Given the description of an element on the screen output the (x, y) to click on. 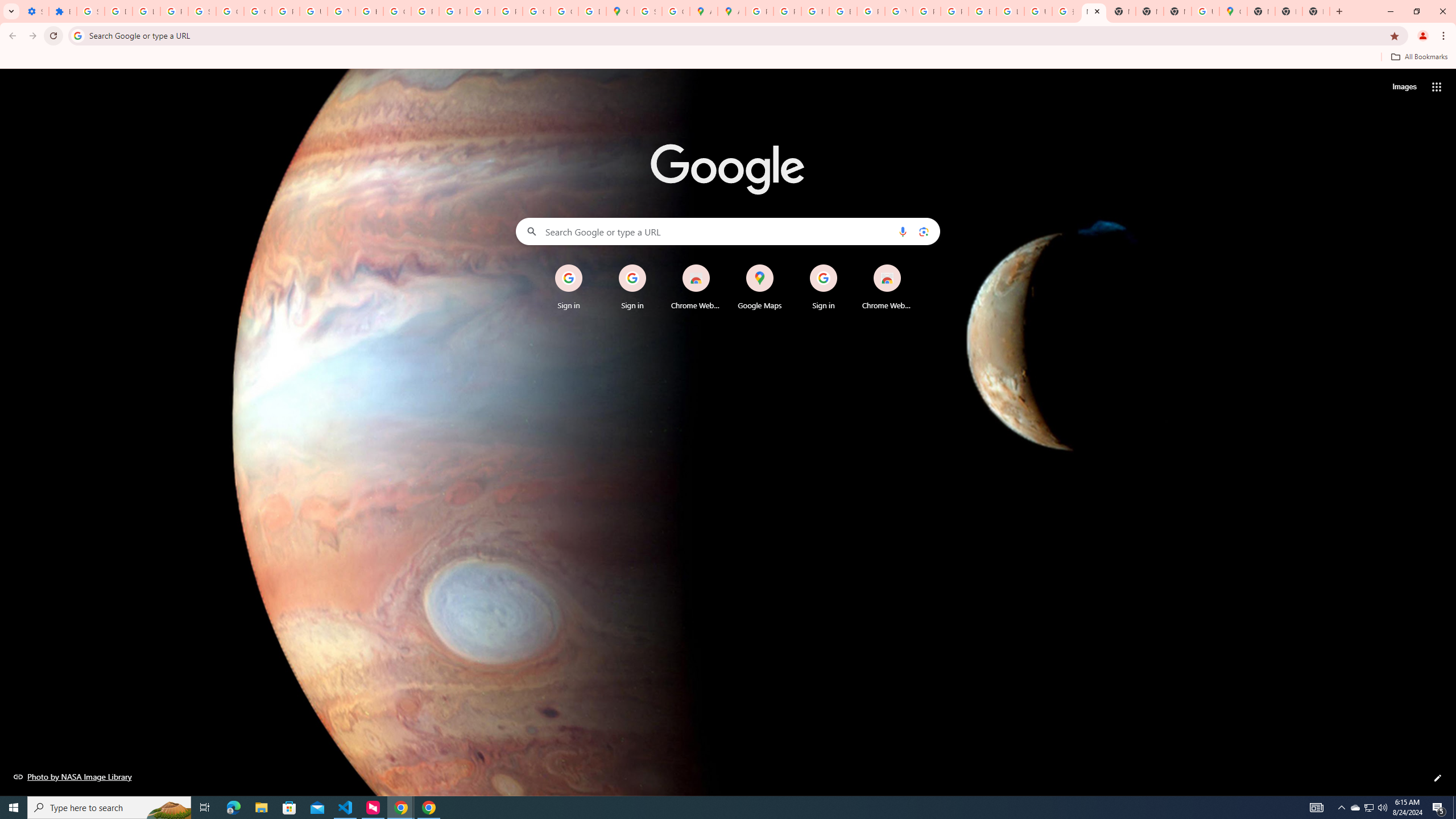
Google Maps (760, 287)
Use Google Maps in Space - Google Maps Help (1205, 11)
Privacy Help Center - Policies Help (425, 11)
Privacy Help Center - Policies Help (815, 11)
